Given the description of an element on the screen output the (x, y) to click on. 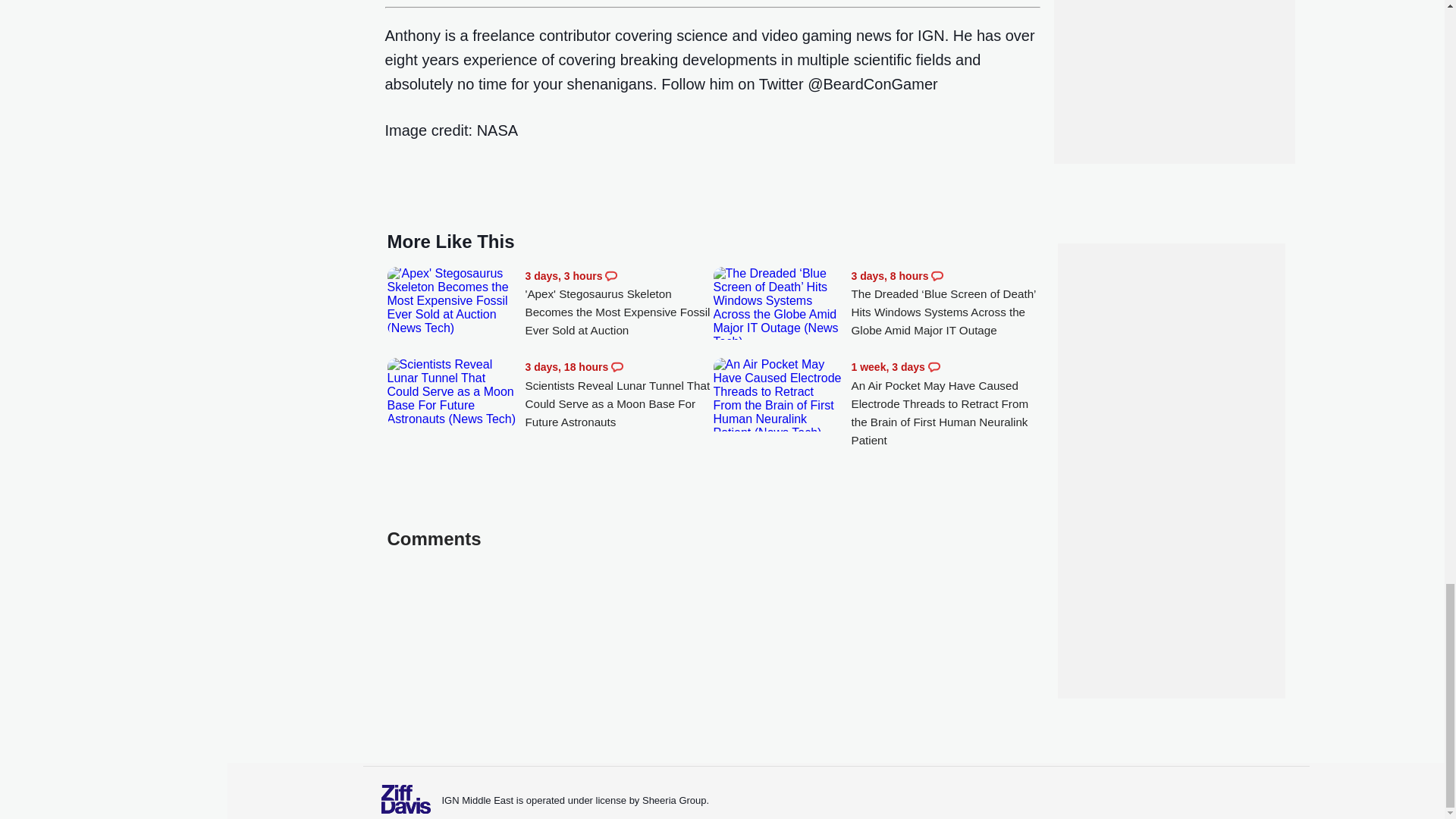
Comments (617, 367)
Comments (934, 367)
Comments (937, 275)
Comments (611, 275)
